Given the description of an element on the screen output the (x, y) to click on. 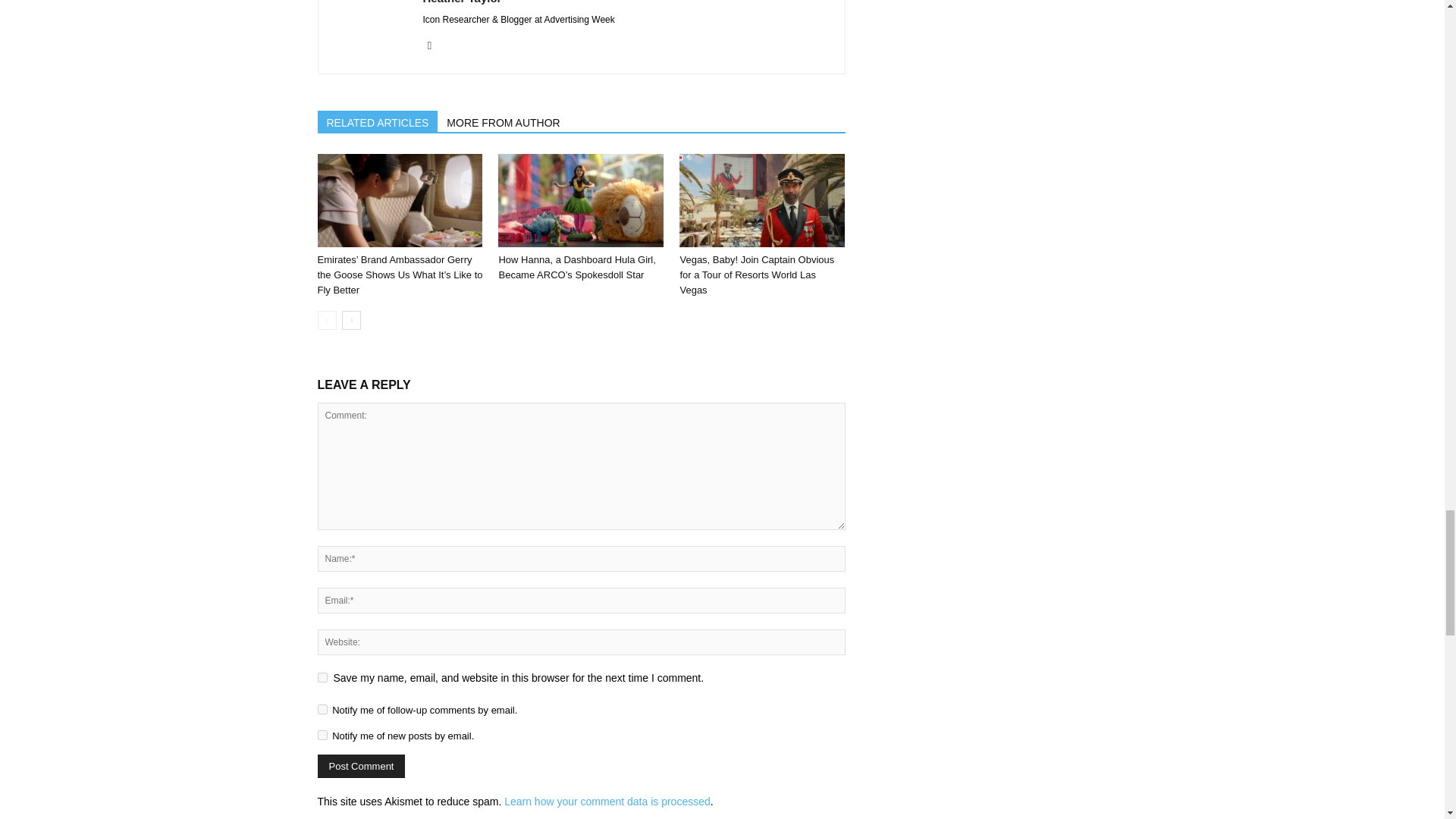
Twitter (435, 45)
Post Comment (360, 766)
subscribe (321, 735)
yes (321, 677)
subscribe (321, 709)
